Given the description of an element on the screen output the (x, y) to click on. 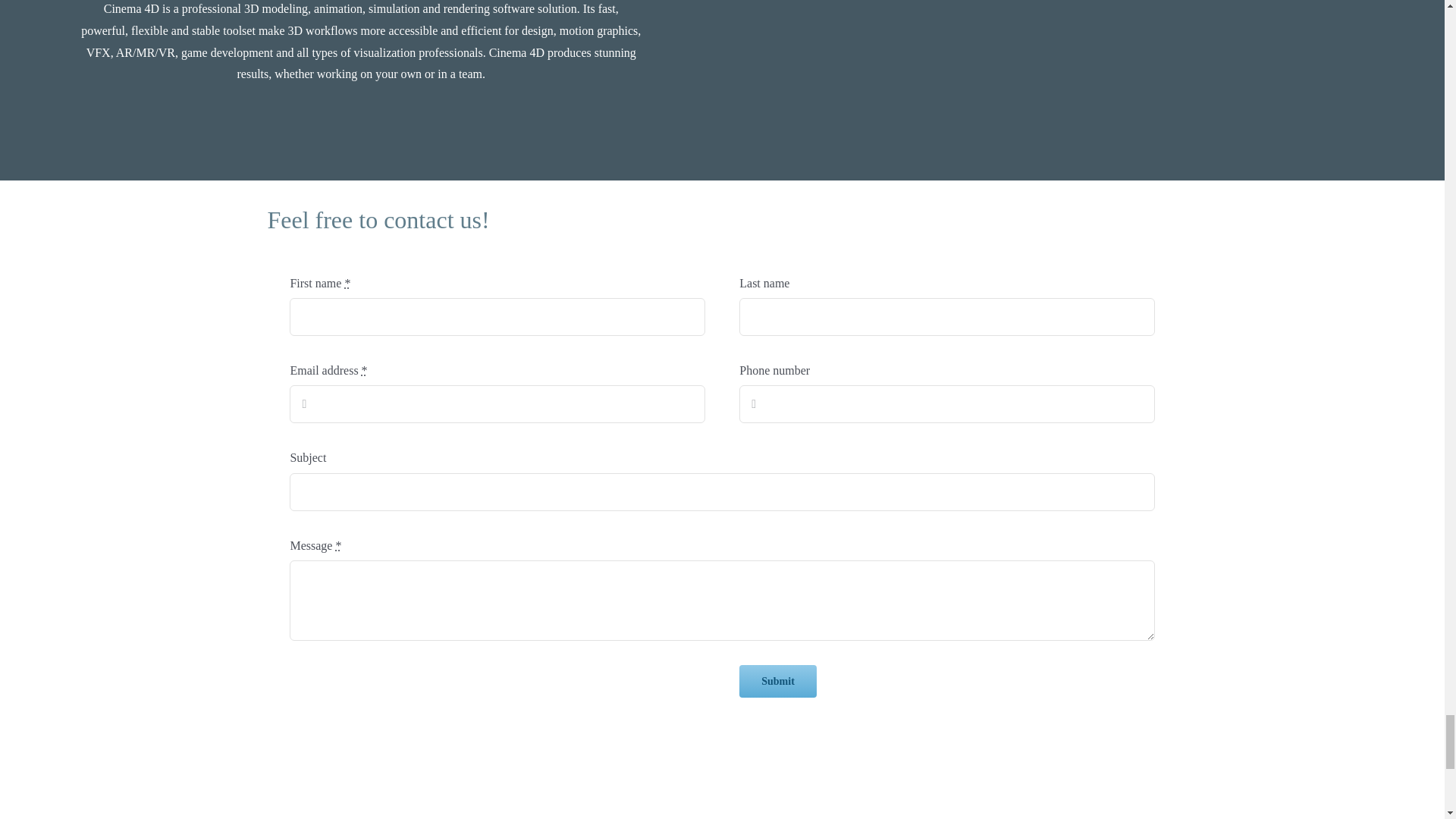
Submit (777, 681)
